Given the description of an element on the screen output the (x, y) to click on. 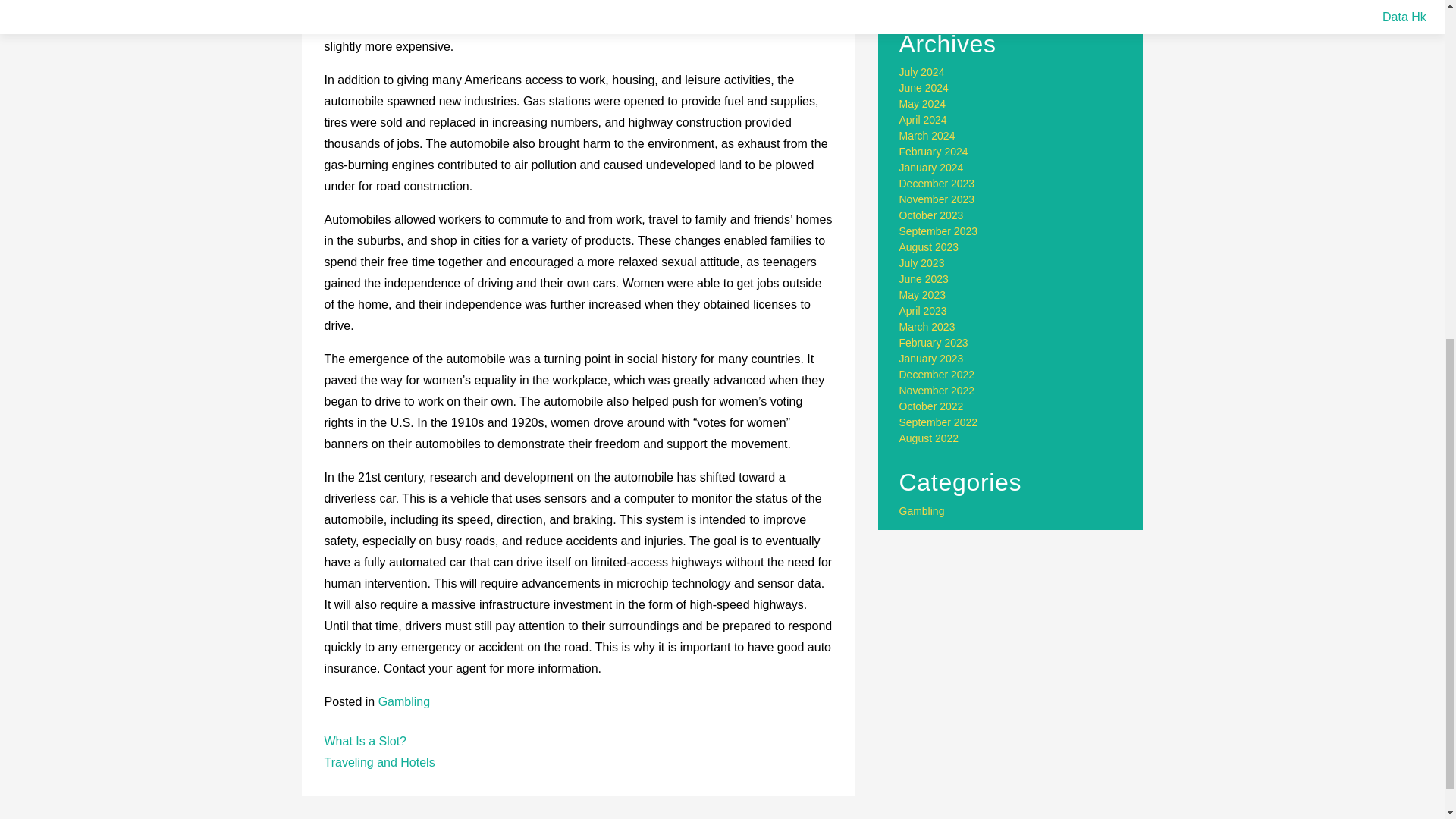
Gambling (921, 510)
December 2022 (937, 374)
October 2022 (931, 406)
March 2023 (927, 326)
January 2023 (931, 358)
November 2023 (937, 199)
November 2022 (937, 390)
September 2022 (938, 422)
July 2024 (921, 71)
April 2024 (923, 119)
October 2023 (931, 215)
December 2023 (937, 183)
Traveling and Hotels (379, 762)
September 2023 (938, 231)
August 2022 (929, 438)
